Given the description of an element on the screen output the (x, y) to click on. 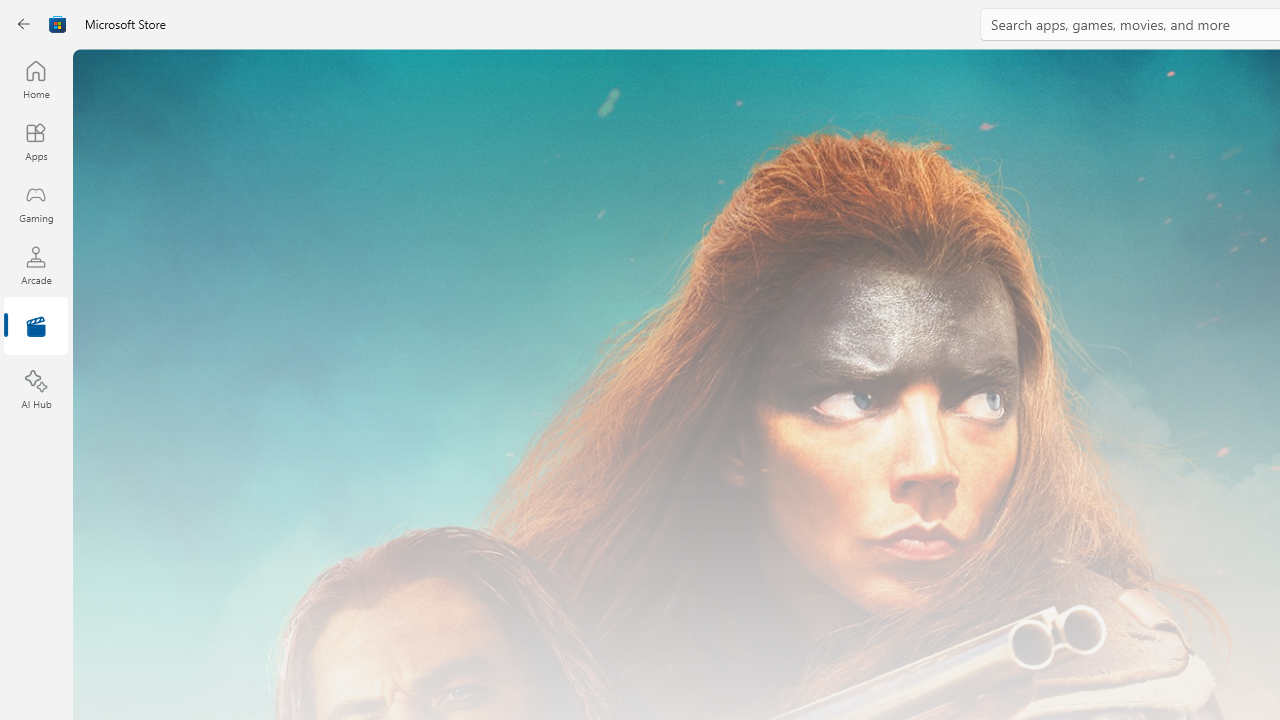
Back (24, 24)
